Given the description of an element on the screen output the (x, y) to click on. 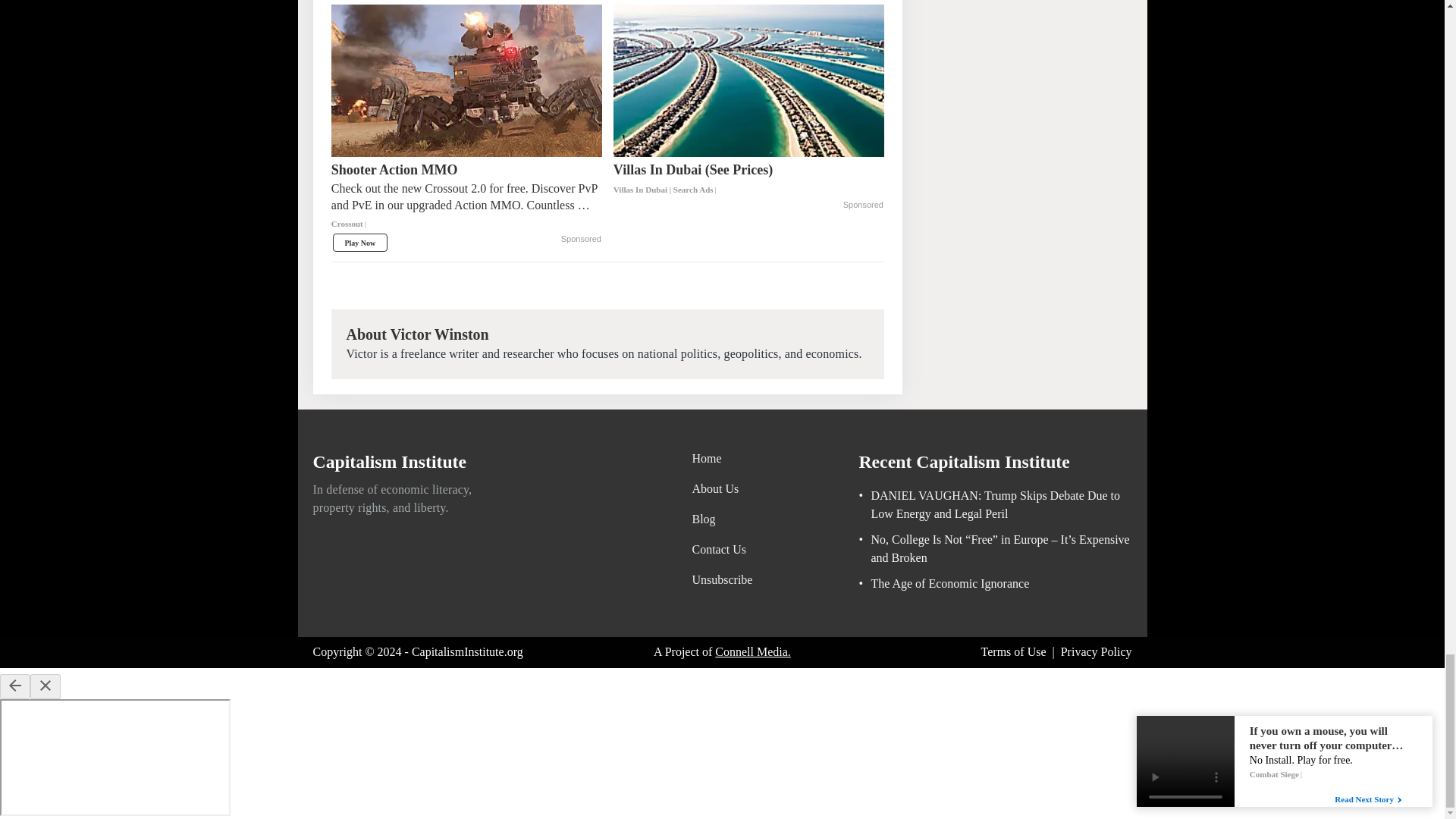
Play Now (360, 242)
Sponsored (580, 239)
